Given the description of an element on the screen output the (x, y) to click on. 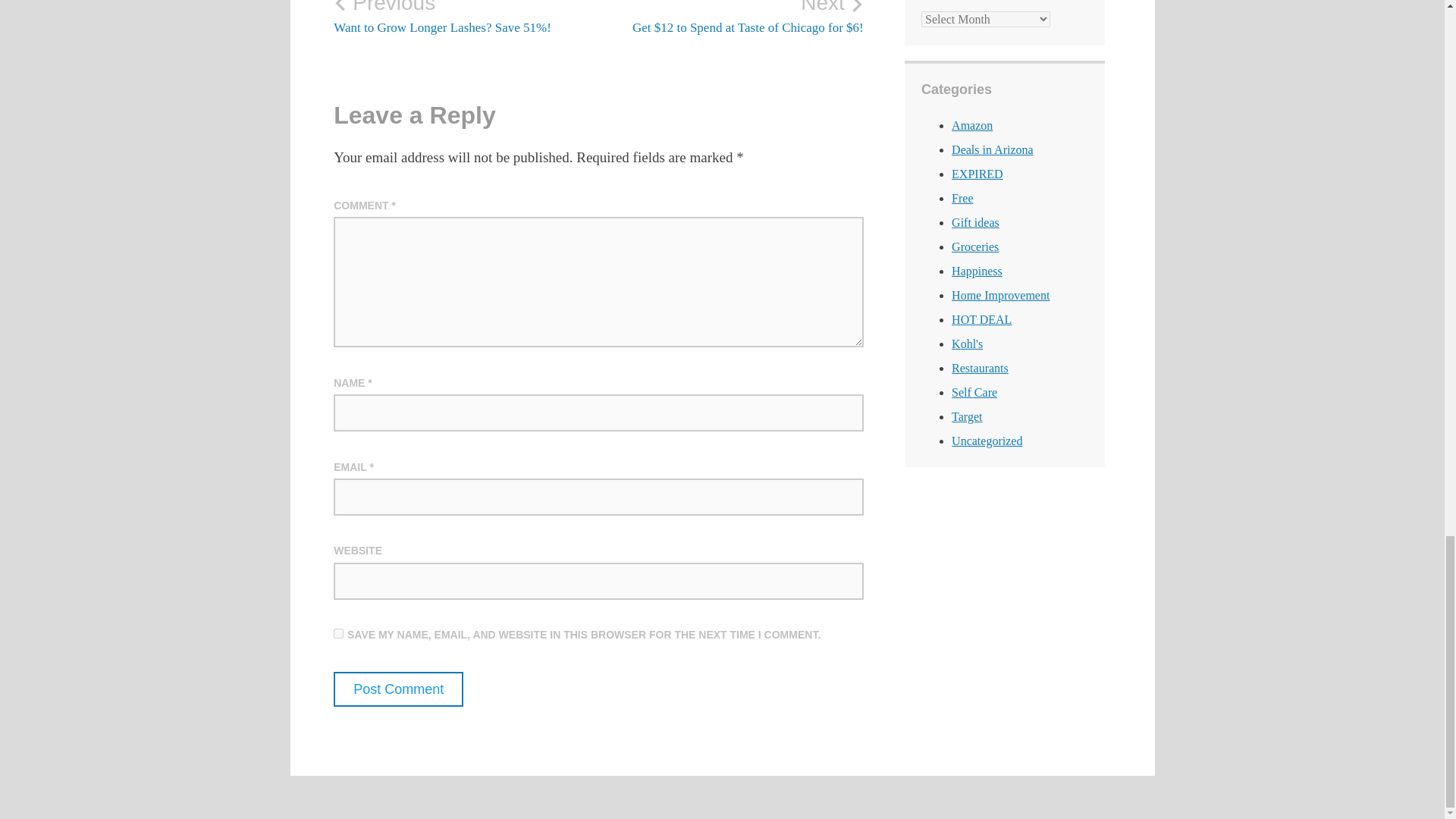
Amazon (972, 124)
Deals in Arizona (992, 149)
Happiness (977, 270)
Post Comment (398, 688)
Gift ideas (975, 222)
yes (338, 633)
Post Comment (398, 688)
EXPIRED (977, 173)
Groceries (975, 246)
Free (962, 197)
